Given the description of an element on the screen output the (x, y) to click on. 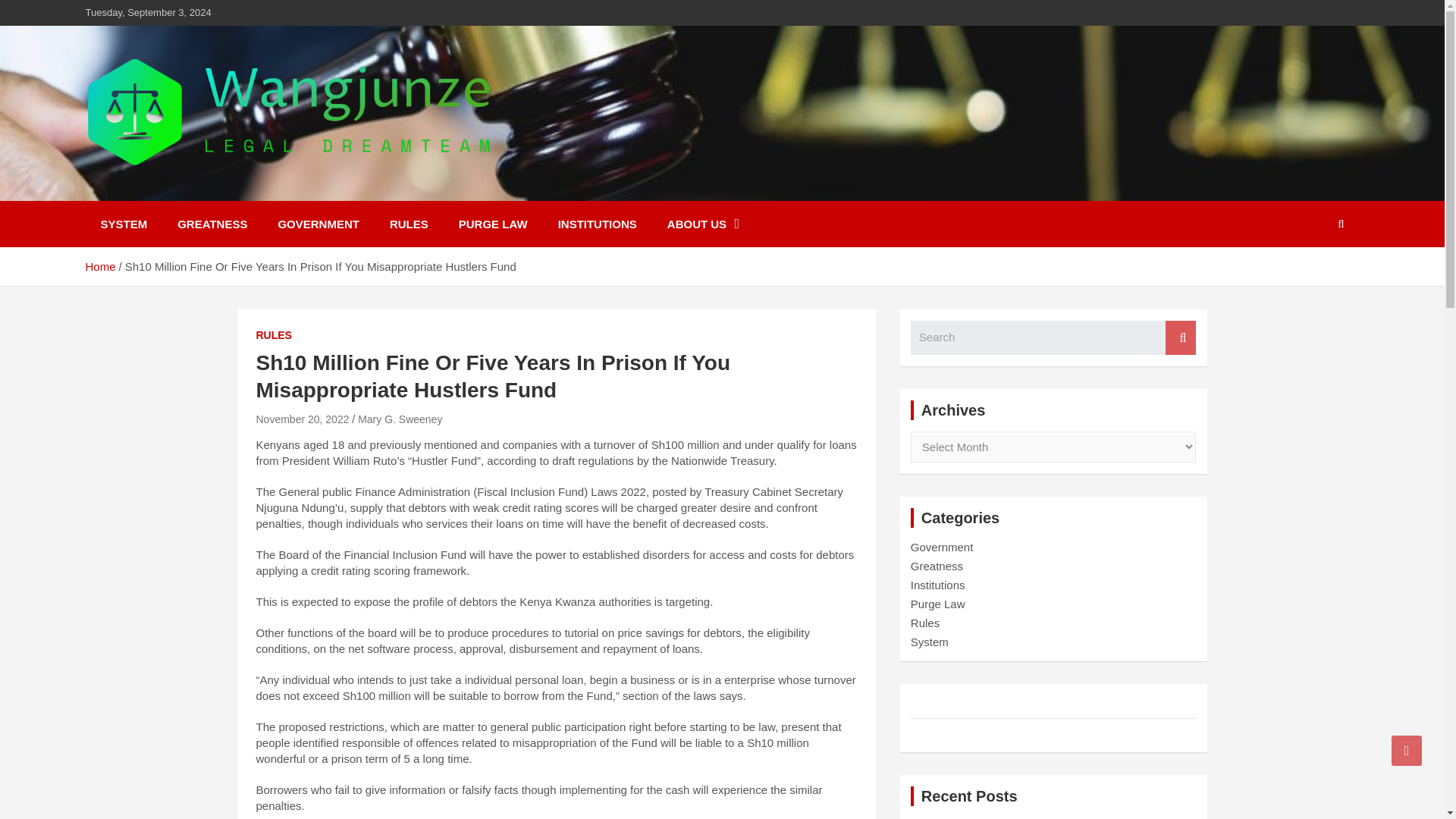
GREATNESS (211, 223)
Home (99, 266)
Institutions (938, 584)
SYSTEM (122, 223)
GOVERNMENT (318, 223)
November 20, 2022 (302, 419)
INSTITUTIONS (597, 223)
RULES (409, 223)
Government (942, 546)
